Given the description of an element on the screen output the (x, y) to click on. 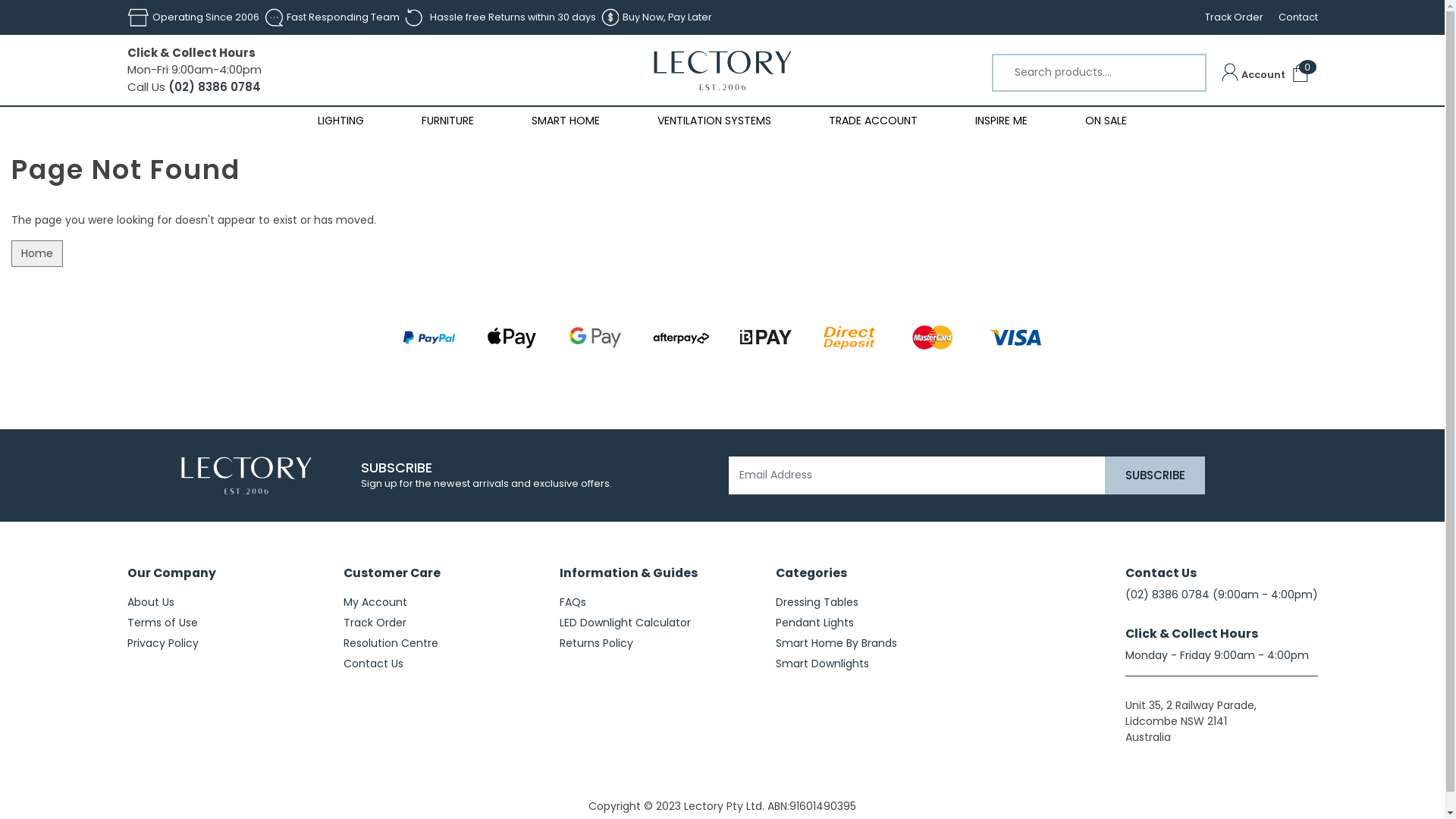
Contact Element type: text (1290, 17)
Pendant Lights Element type: text (871, 622)
Search Element type: text (1189, 61)
My Account Element type: text (439, 602)
Track Order Element type: text (1225, 17)
(02) 8386 0784 Element type: text (212, 86)
Resolution Centre Element type: text (439, 643)
SUBSCRIBE Element type: text (1154, 475)
About Us Element type: text (223, 602)
FAQs Element type: text (656, 602)
VENTILATION SYSTEMS Element type: text (714, 121)
Privacy Policy Element type: text (223, 643)
Smart Downlights Element type: text (871, 663)
Dressing Tables Element type: text (871, 602)
0 Element type: text (1299, 74)
Track Order Element type: text (439, 622)
Home Element type: text (36, 253)
Returns Policy Element type: text (656, 643)
TRADE ACCOUNT Element type: text (872, 121)
INSPIRE ME Element type: text (1001, 121)
ON SALE Element type: text (1105, 121)
FURNITURE Element type: text (447, 121)
LIGHTING Element type: text (340, 121)
LED Downlight Calculator Element type: text (656, 622)
Account Element type: text (1253, 74)
Skip to main content Element type: text (0, 0)
SMART HOME Element type: text (565, 121)
(02) 8386 0784 Element type: text (1167, 594)
Contact Us Element type: text (439, 663)
Smart Home By Brands Element type: text (871, 643)
Terms of Use Element type: text (223, 622)
